Given the description of an element on the screen output the (x, y) to click on. 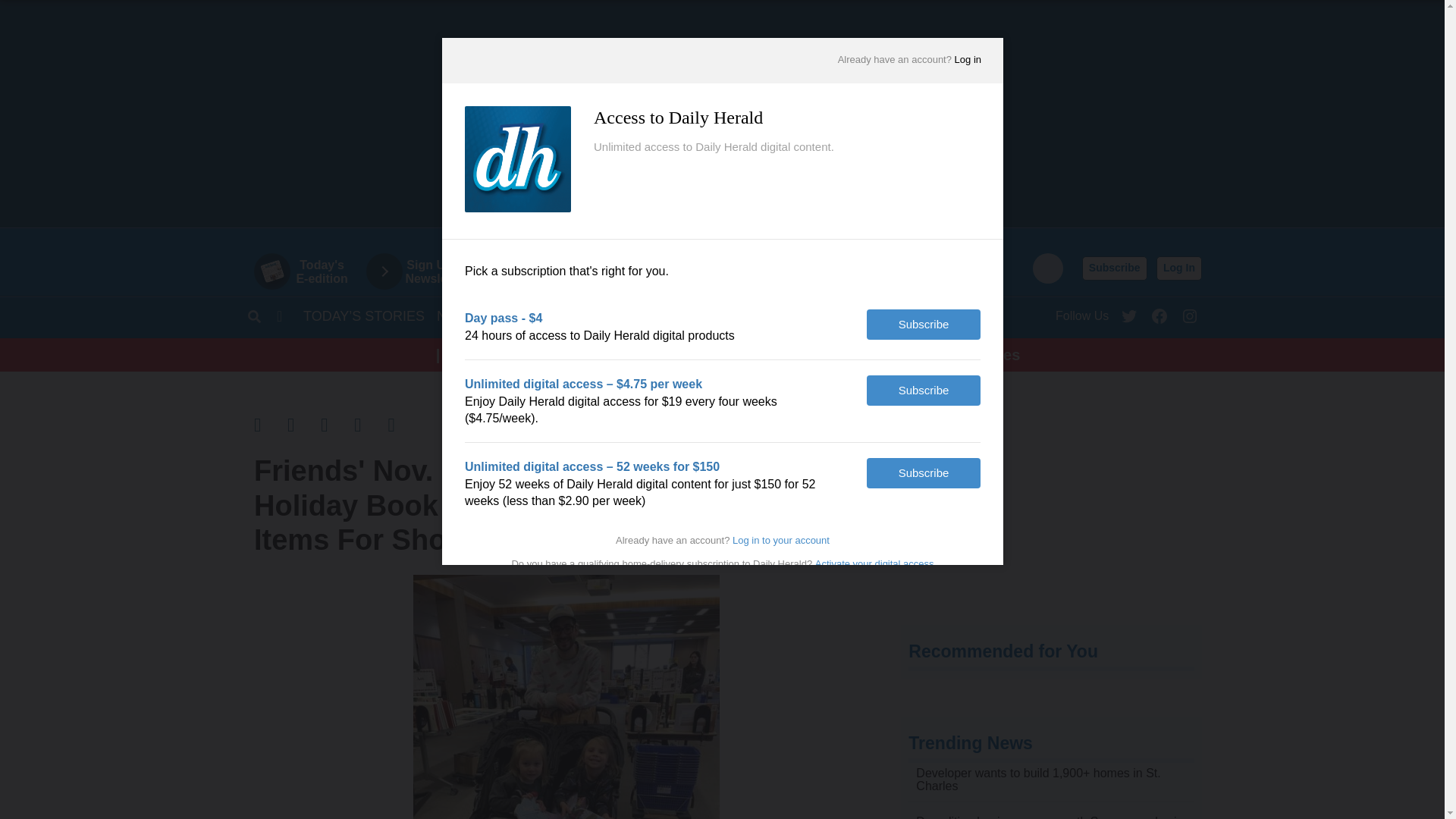
OPINION (586, 315)
BUSINESS (757, 315)
Signup Widget Embed (1051, 512)
Facebook (1159, 312)
OBITUARIES (668, 315)
Opinion (586, 315)
Sports (517, 315)
Log In (1179, 268)
Lifestyle (966, 315)
